Given the description of an element on the screen output the (x, y) to click on. 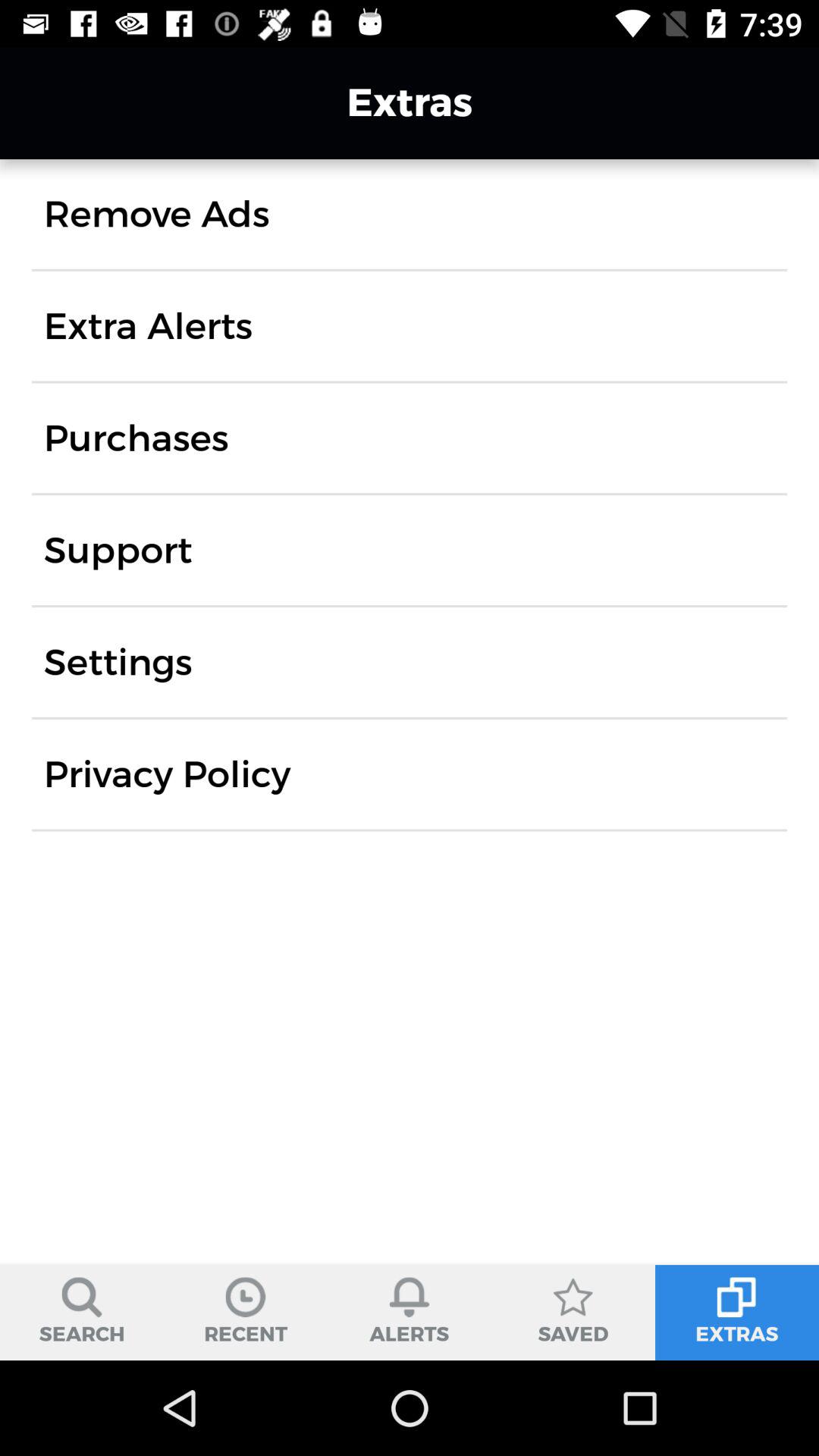
click the extra alerts (147, 326)
